Given the description of an element on the screen output the (x, y) to click on. 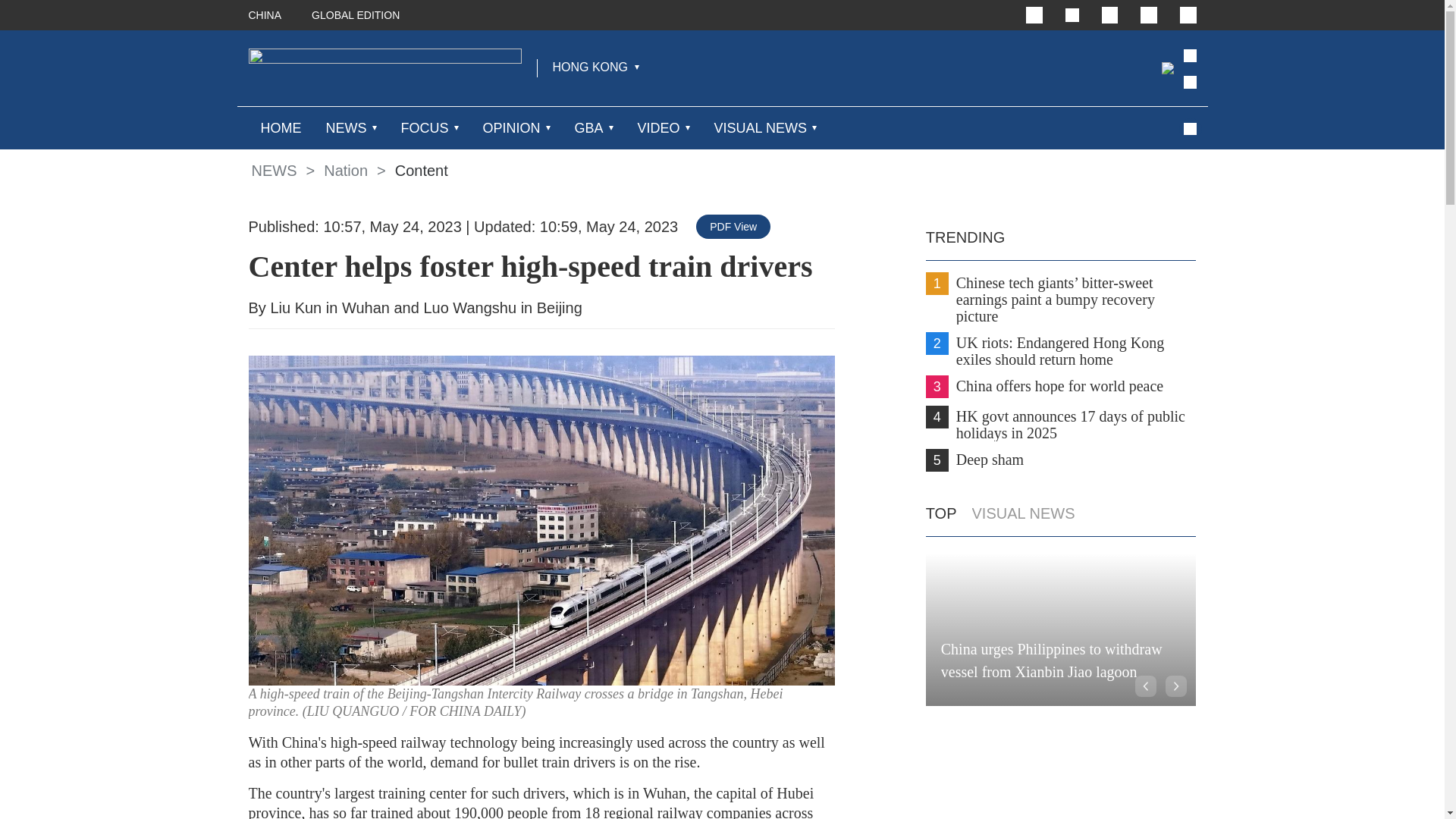
HOME (280, 127)
GLOBAL EDITION (354, 15)
OPINION (510, 127)
GBA (589, 127)
CHINA (265, 15)
